Given the description of an element on the screen output the (x, y) to click on. 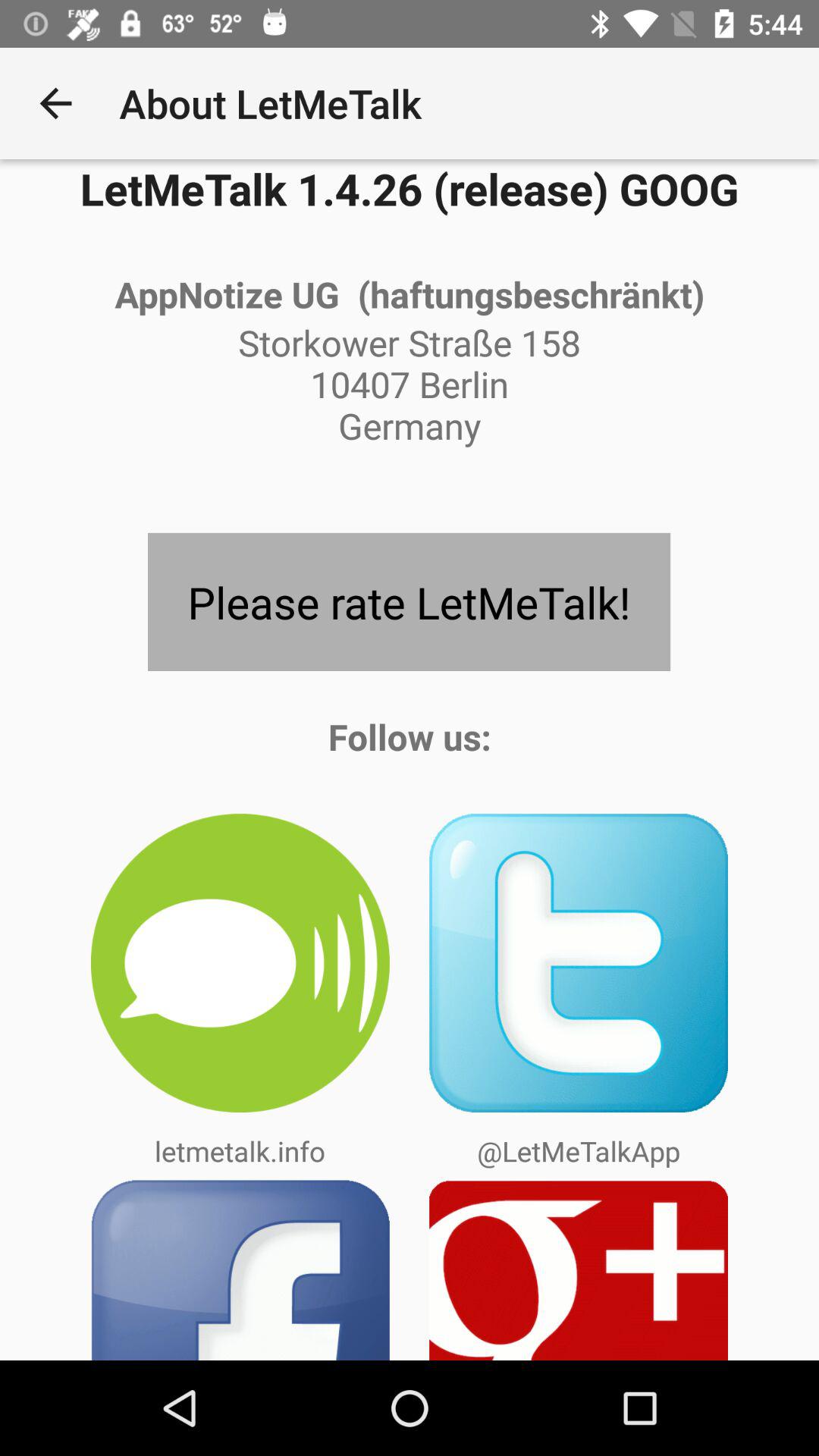
face book (240, 1269)
